Given the description of an element on the screen output the (x, y) to click on. 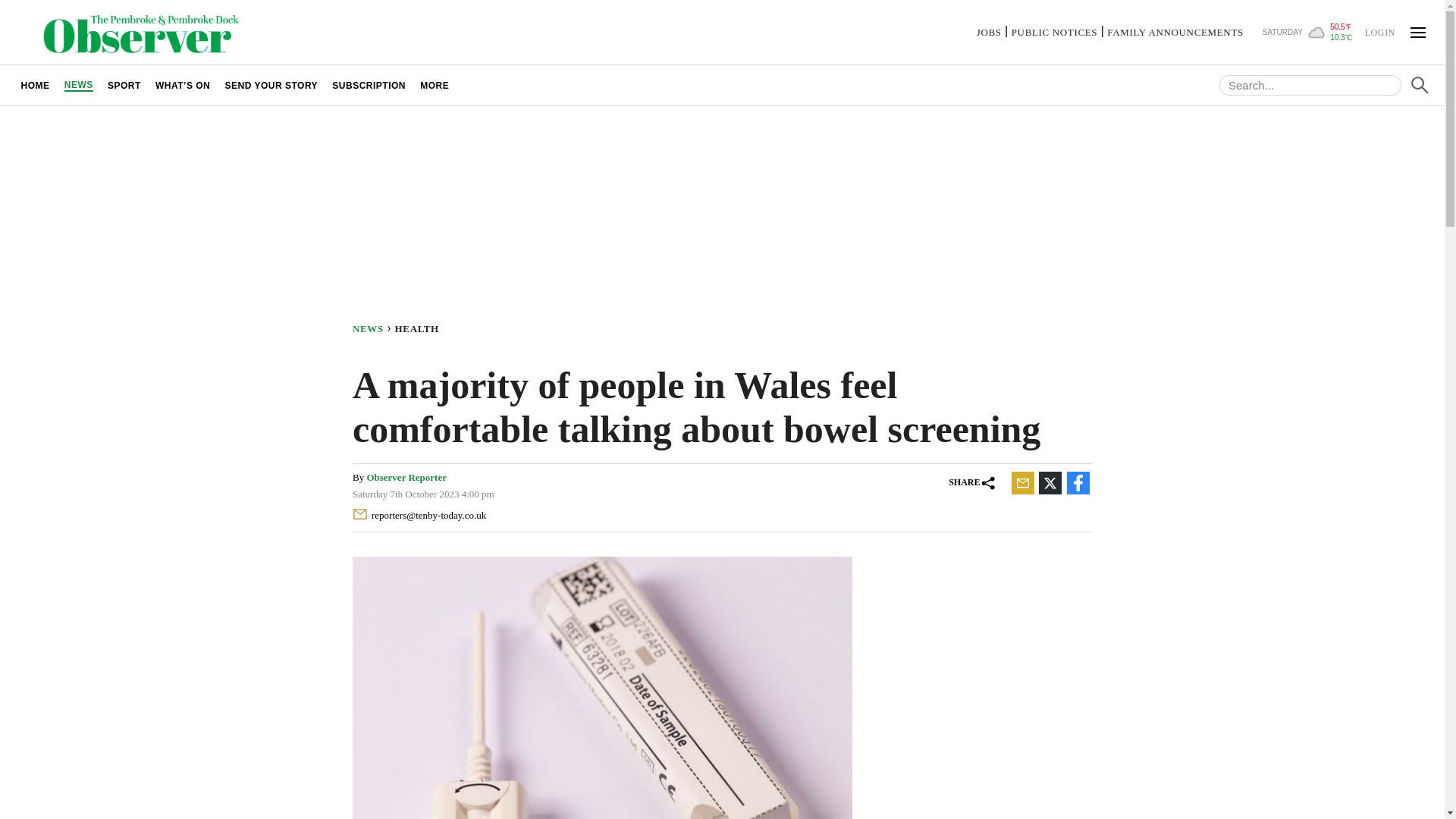
HEALTH (419, 328)
SUBSCRIPTION (368, 85)
LOGIN (1379, 31)
MORE (435, 85)
SPORT (124, 85)
SEND YOUR STORY (270, 85)
NEWS (78, 85)
HOME (34, 85)
Observer Reporter (406, 477)
NEWS (373, 328)
